Given the description of an element on the screen output the (x, y) to click on. 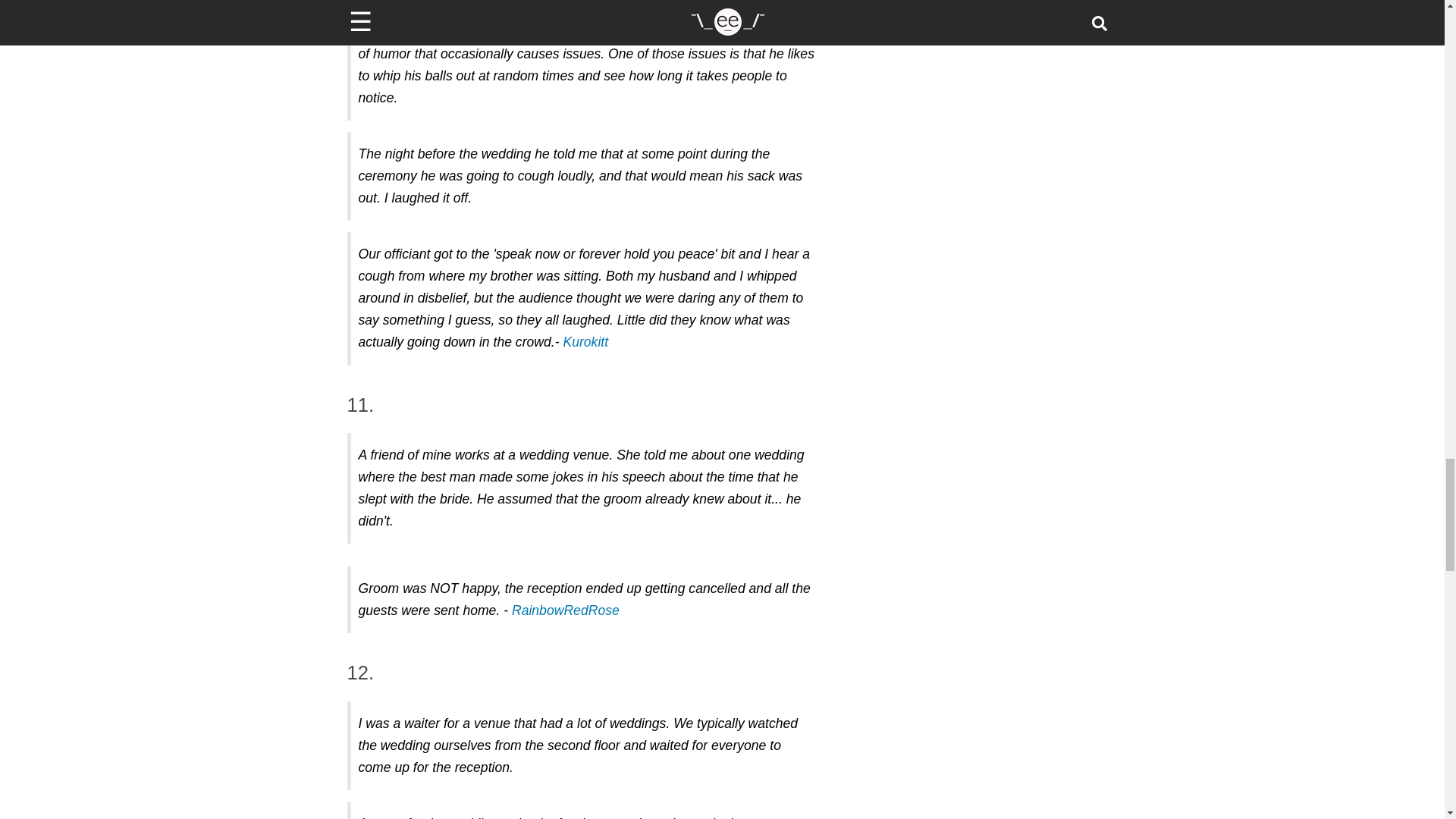
RainbowRedRose (566, 610)
Kurokitt (585, 341)
